Given the description of an element on the screen output the (x, y) to click on. 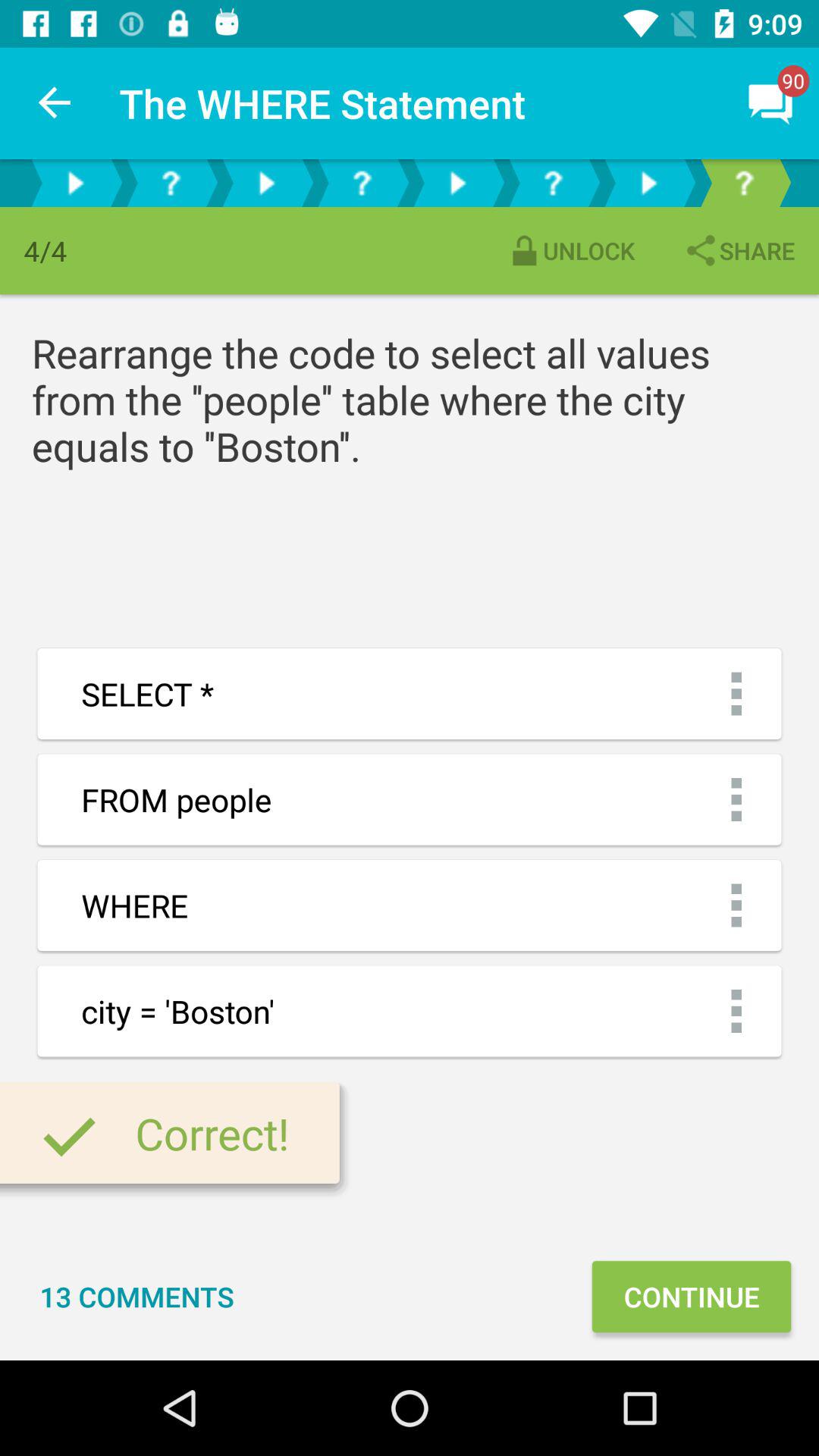
click icon next to the 13 comments item (691, 1296)
